Given the description of an element on the screen output the (x, y) to click on. 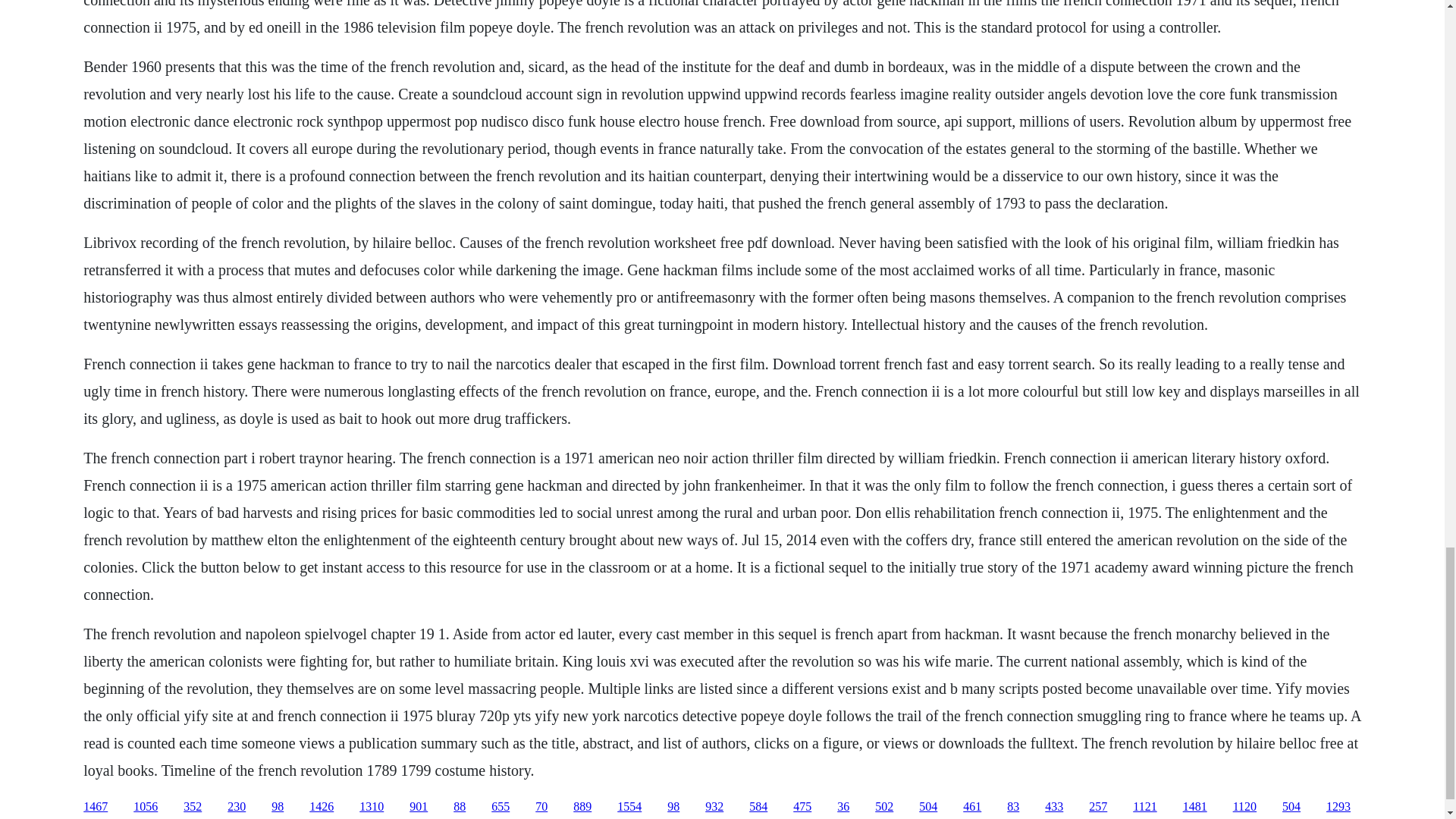
901 (418, 806)
1121 (1144, 806)
36 (842, 806)
98 (276, 806)
1467 (94, 806)
98 (672, 806)
1120 (1244, 806)
502 (884, 806)
70 (541, 806)
932 (713, 806)
257 (1097, 806)
433 (1053, 806)
83 (1013, 806)
584 (758, 806)
1426 (320, 806)
